Given the description of an element on the screen output the (x, y) to click on. 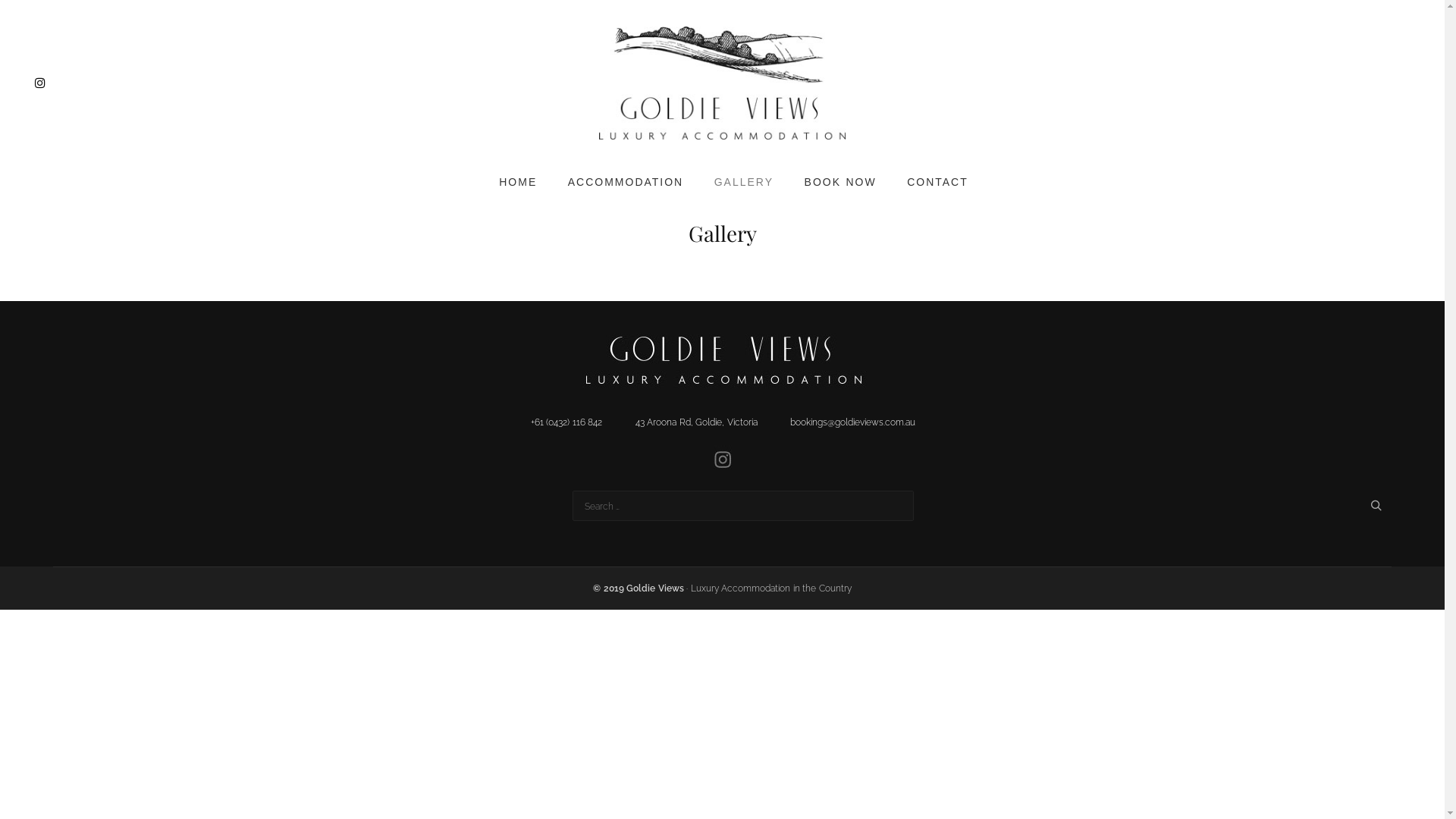
BOOK NOW Element type: text (840, 181)
Goldie Views Element type: hover (722, 83)
HOME Element type: text (517, 181)
ACCOMMODATION Element type: text (625, 181)
bookings@goldieviews.com.au Element type: text (852, 422)
GALLERY Element type: text (743, 181)
Search Element type: text (1368, 505)
CONTACT Element type: text (937, 181)
